Given the description of an element on the screen output the (x, y) to click on. 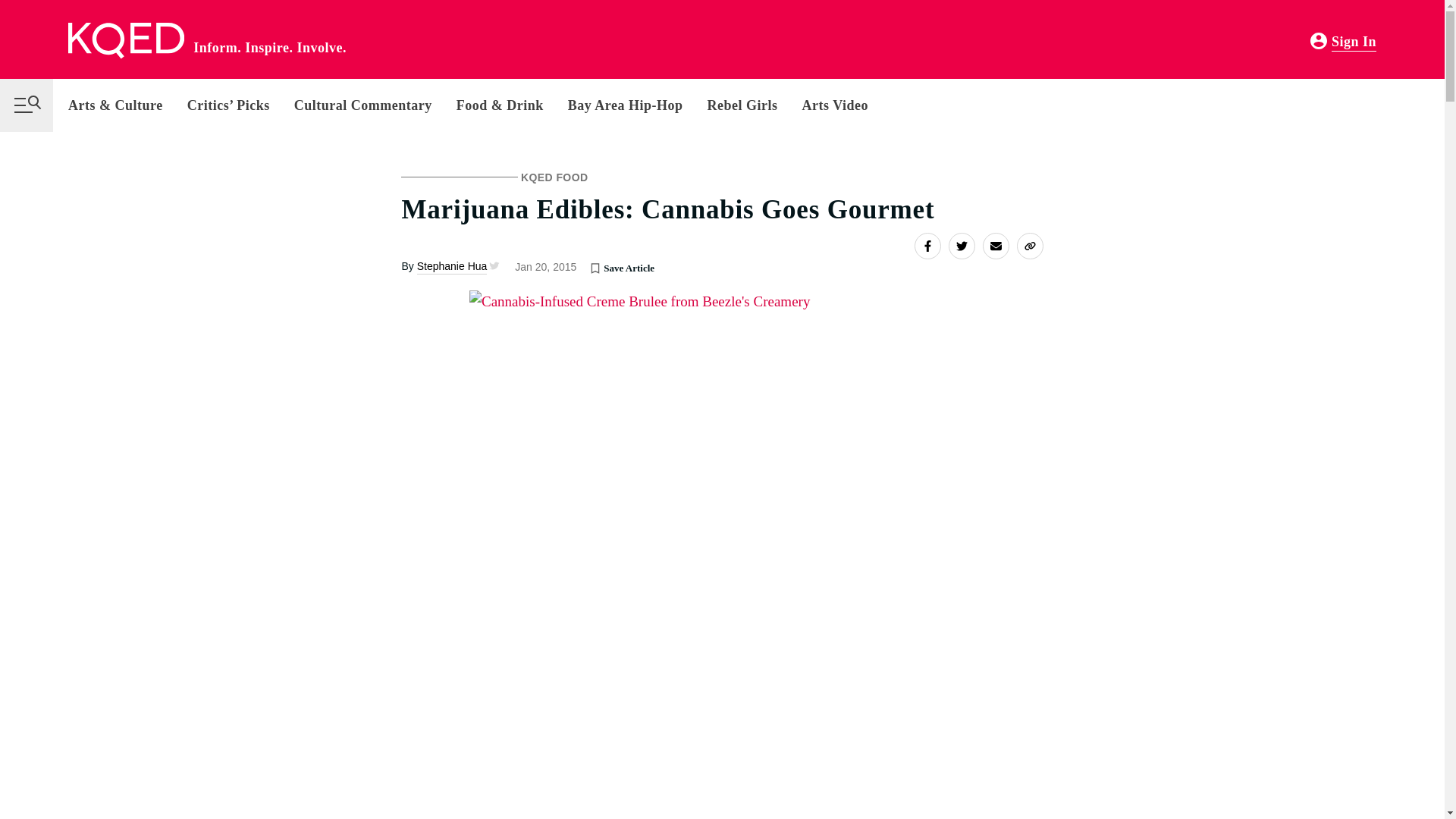
Stephanie Hua on Twitter (492, 265)
KQED (126, 40)
Save Article (595, 267)
KQED (126, 40)
